Given the description of an element on the screen output the (x, y) to click on. 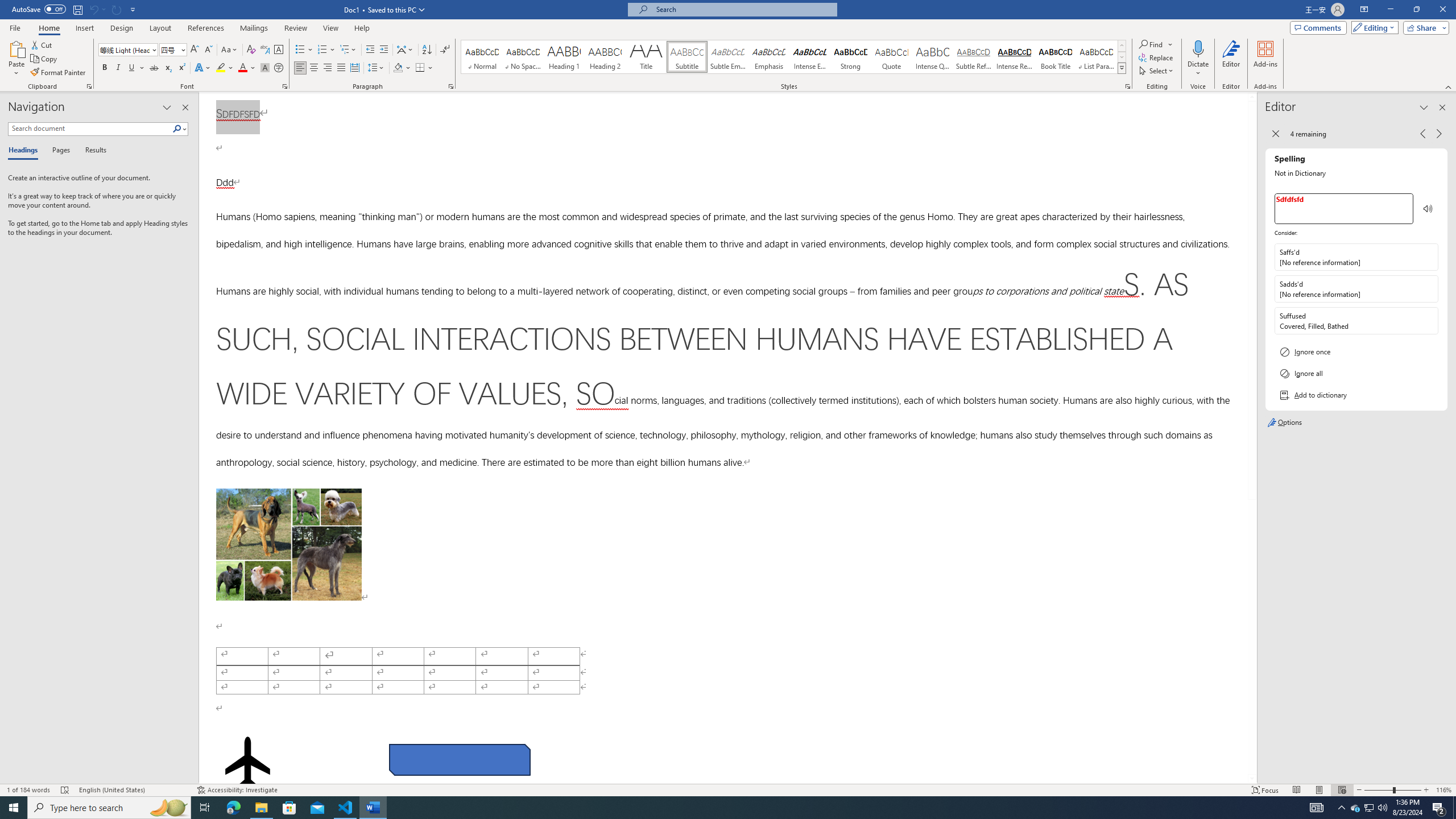
Can't Undo (96, 9)
Center (313, 67)
Zoom 116% (1443, 790)
Sort... (426, 49)
Grow Font (193, 49)
AutomationID: QuickStylesGallery (794, 56)
Ignore all (1356, 373)
More options for Suffused (1428, 320)
Heading 2 (605, 56)
Zoom Out (1378, 790)
File Tab (15, 27)
Align Right (327, 67)
Copy (45, 58)
